Given the description of an element on the screen output the (x, y) to click on. 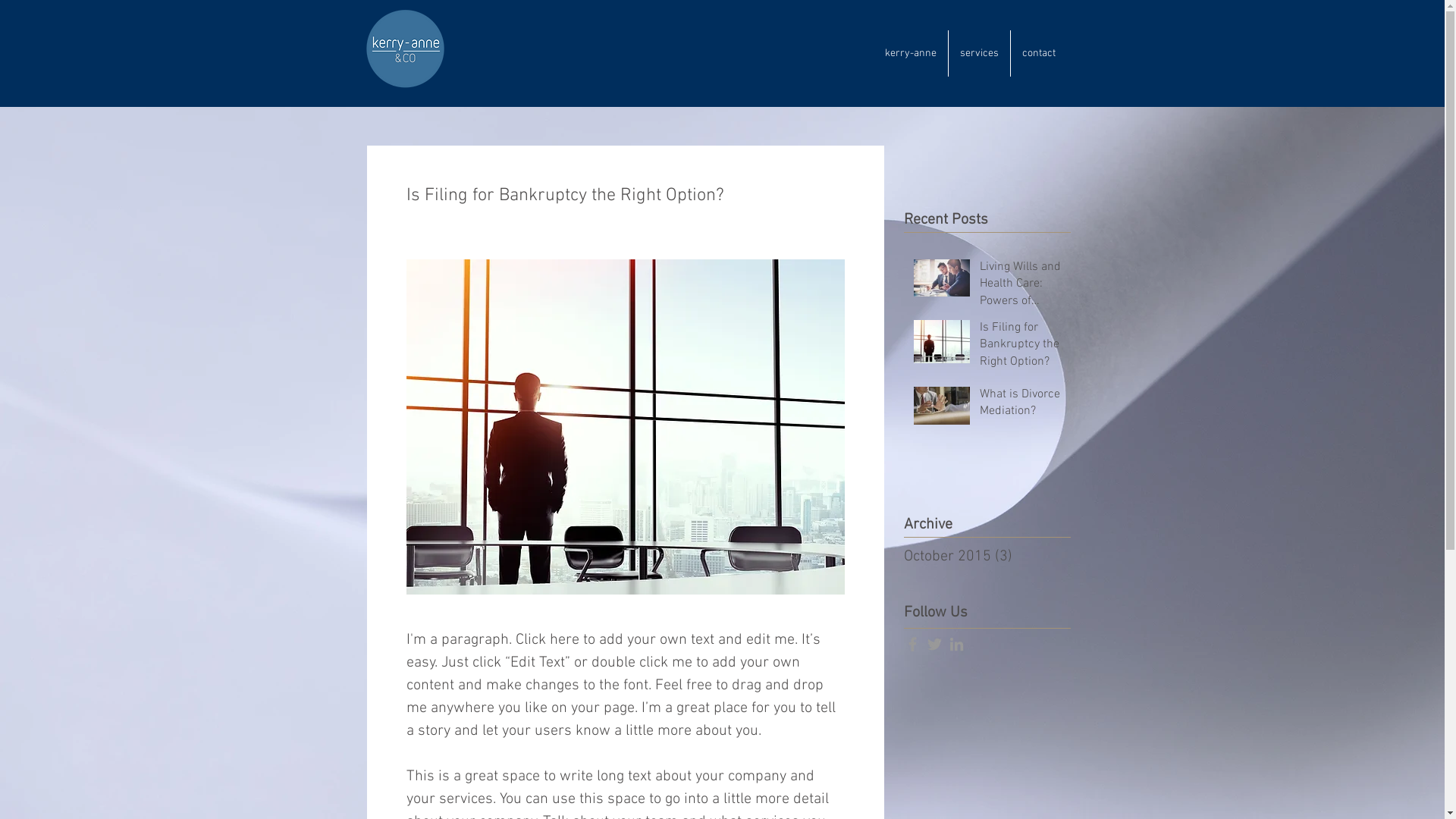
Logo Final Artwork Transparent BG.png Element type: hover (404, 48)
What is Divorce Mediation? Element type: text (1020, 405)
October 2015 (3) Element type: text (983, 556)
contact Element type: text (1038, 53)
Living Wills and Health Care: Powers of Attorney Element type: text (1020, 286)
Is Filing for Bankruptcy the Right Option? Element type: text (1020, 347)
kerry-anne Element type: text (910, 53)
services Element type: text (978, 53)
